Given the description of an element on the screen output the (x, y) to click on. 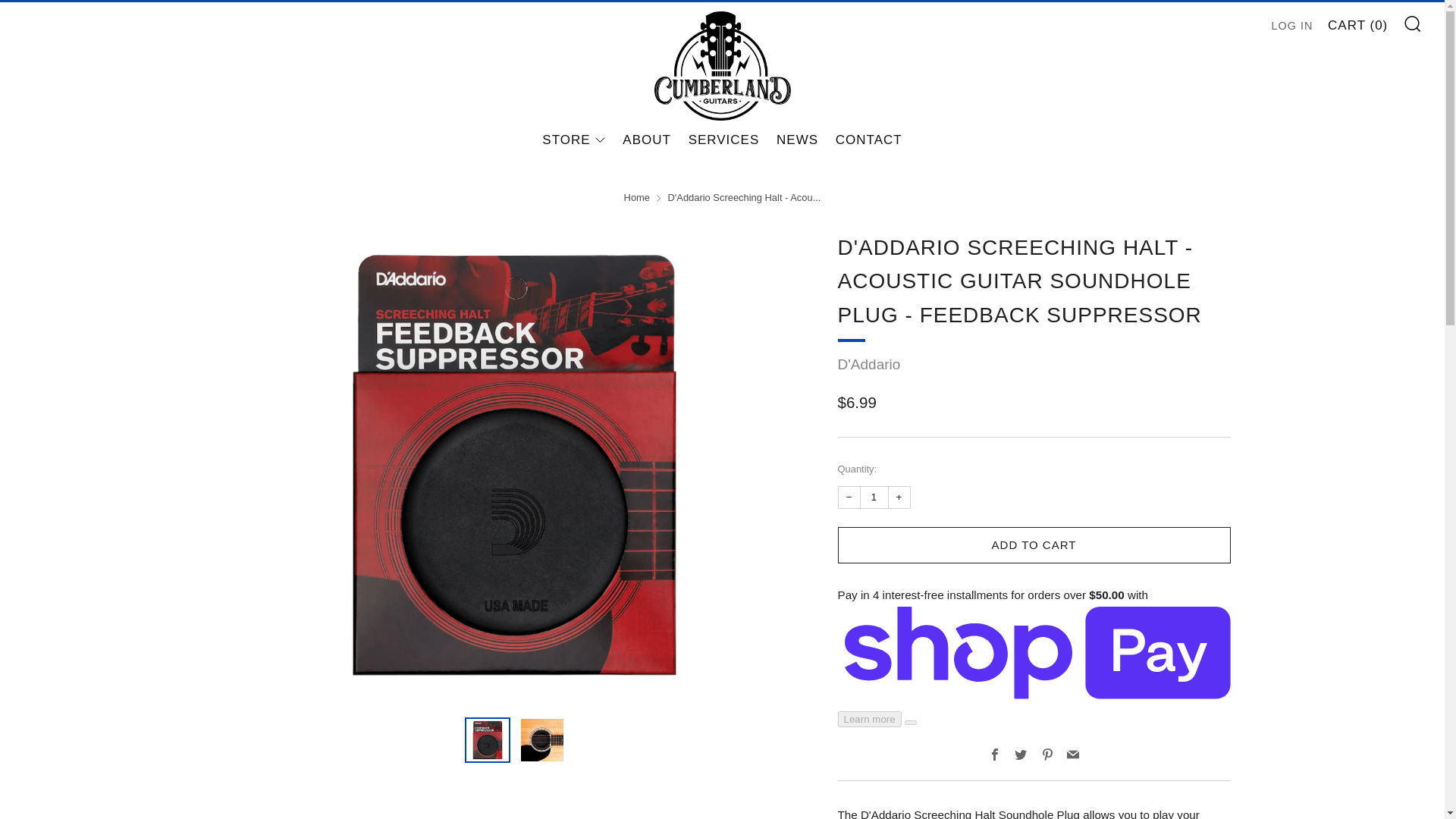
1 (874, 497)
D'Addario (868, 364)
Home (636, 197)
